Given the description of an element on the screen output the (x, y) to click on. 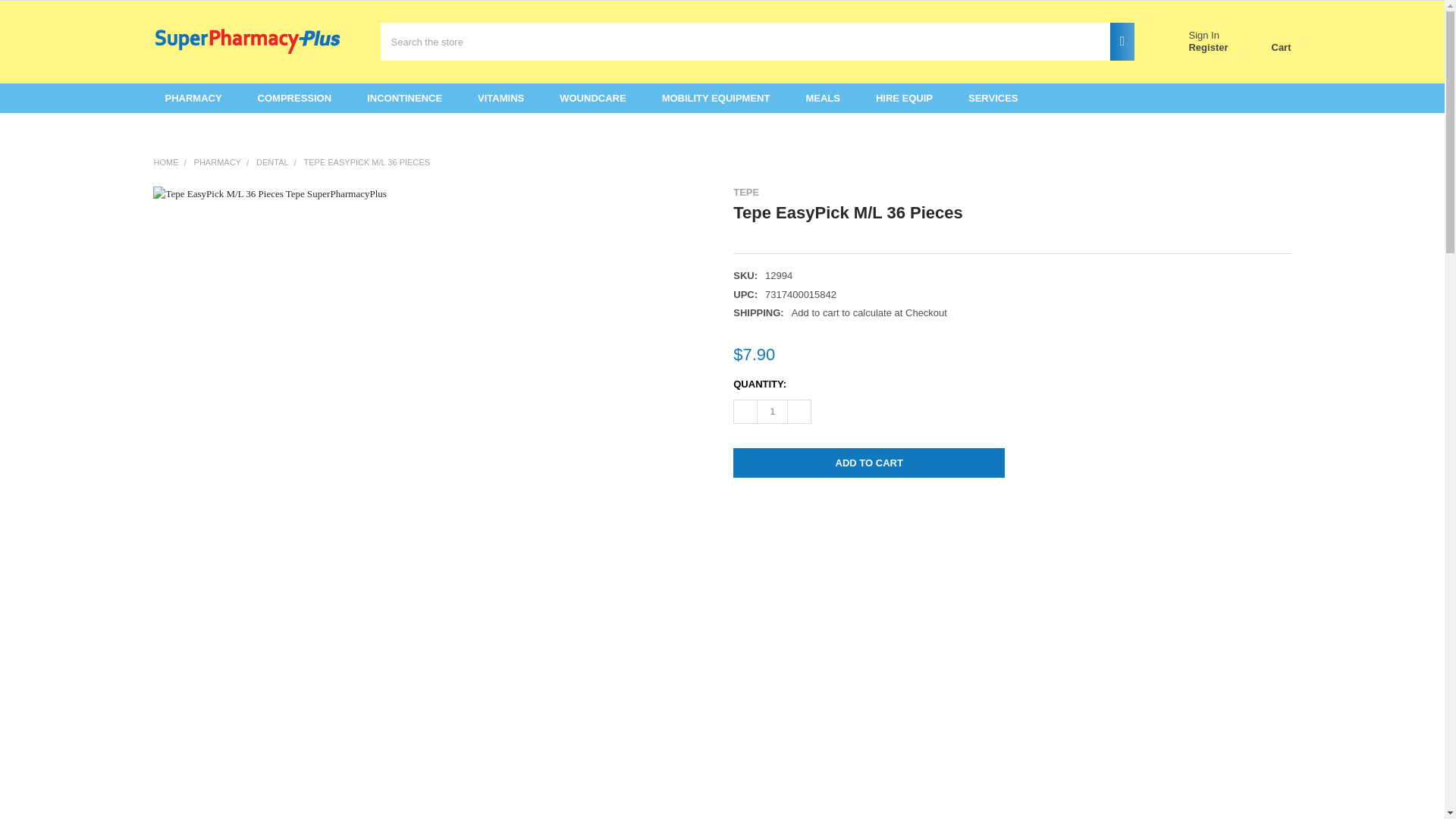
PHARMACY (199, 98)
Sign In (1203, 35)
Cart (1265, 42)
Register (1207, 47)
Add to Cart (868, 462)
1 (772, 411)
SuperPharmacyPlus (247, 41)
Cart (1265, 42)
